Given the description of an element on the screen output the (x, y) to click on. 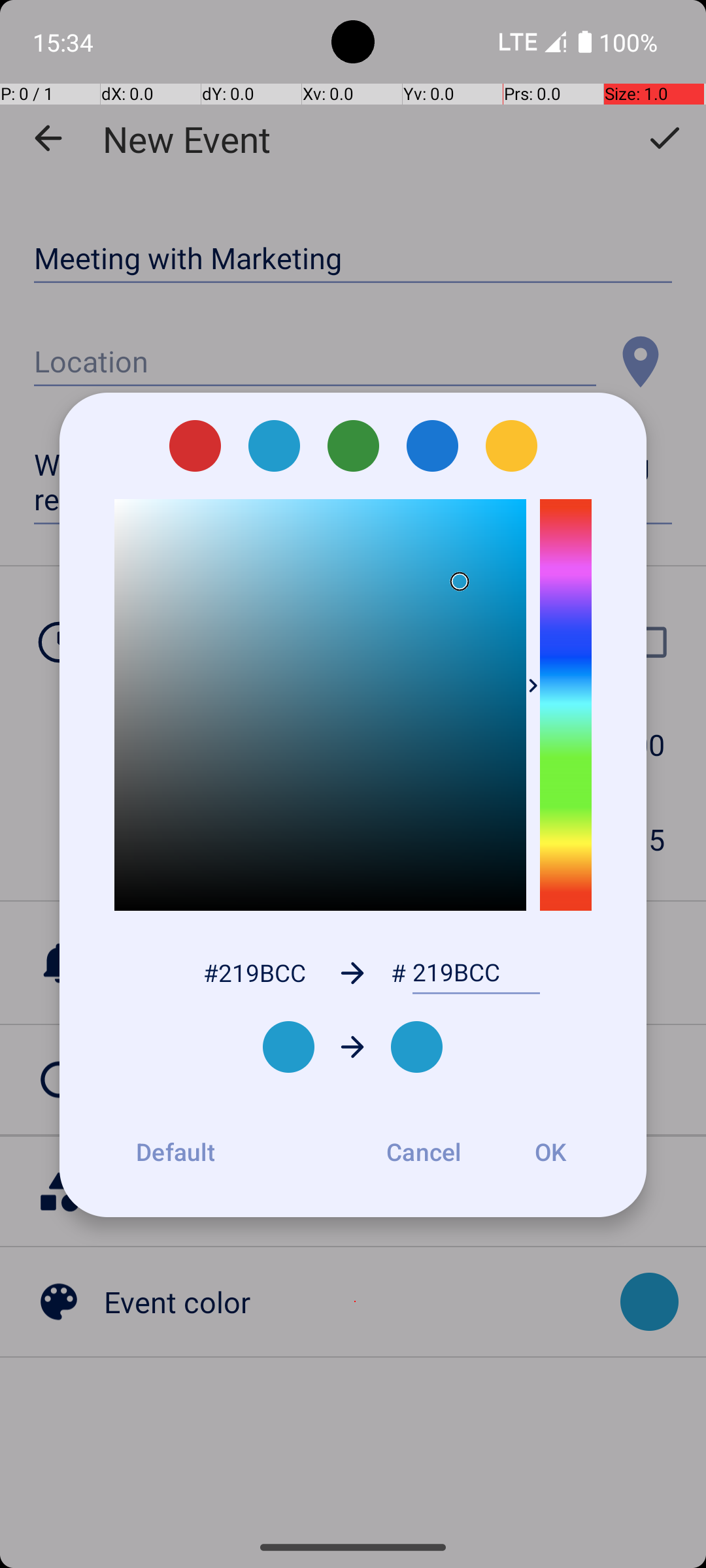
#219BCC Element type: android.widget.TextView (254, 972)
219BCC Element type: android.widget.EditText (475, 972)
Default Element type: android.widget.Button (174, 1151)
